Given the description of an element on the screen output the (x, y) to click on. 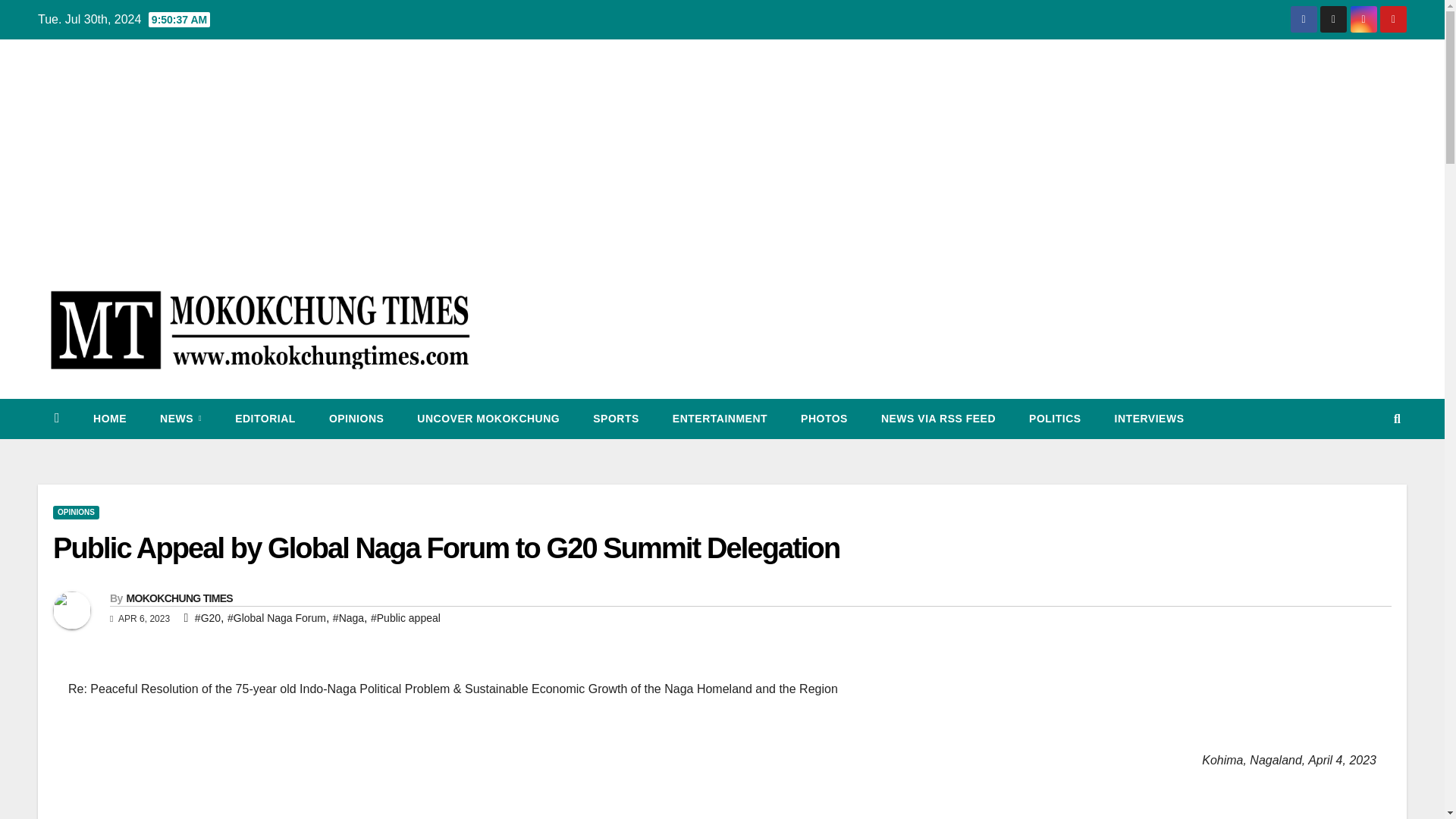
Interviews (1149, 418)
News via RSS Feed (937, 418)
OPINIONS (356, 418)
Public Appeal by Global Naga Forum to G20 Summit Delegation (446, 548)
Home (109, 418)
ENTERTAINMENT (720, 418)
Entertainment (720, 418)
Politics (1054, 418)
INTERVIEWS (1149, 418)
News (180, 418)
NEWS (180, 418)
PHOTOS (824, 418)
NEWS VIA RSS FEED (937, 418)
MOKOKCHUNG TIMES (178, 598)
